Given the description of an element on the screen output the (x, y) to click on. 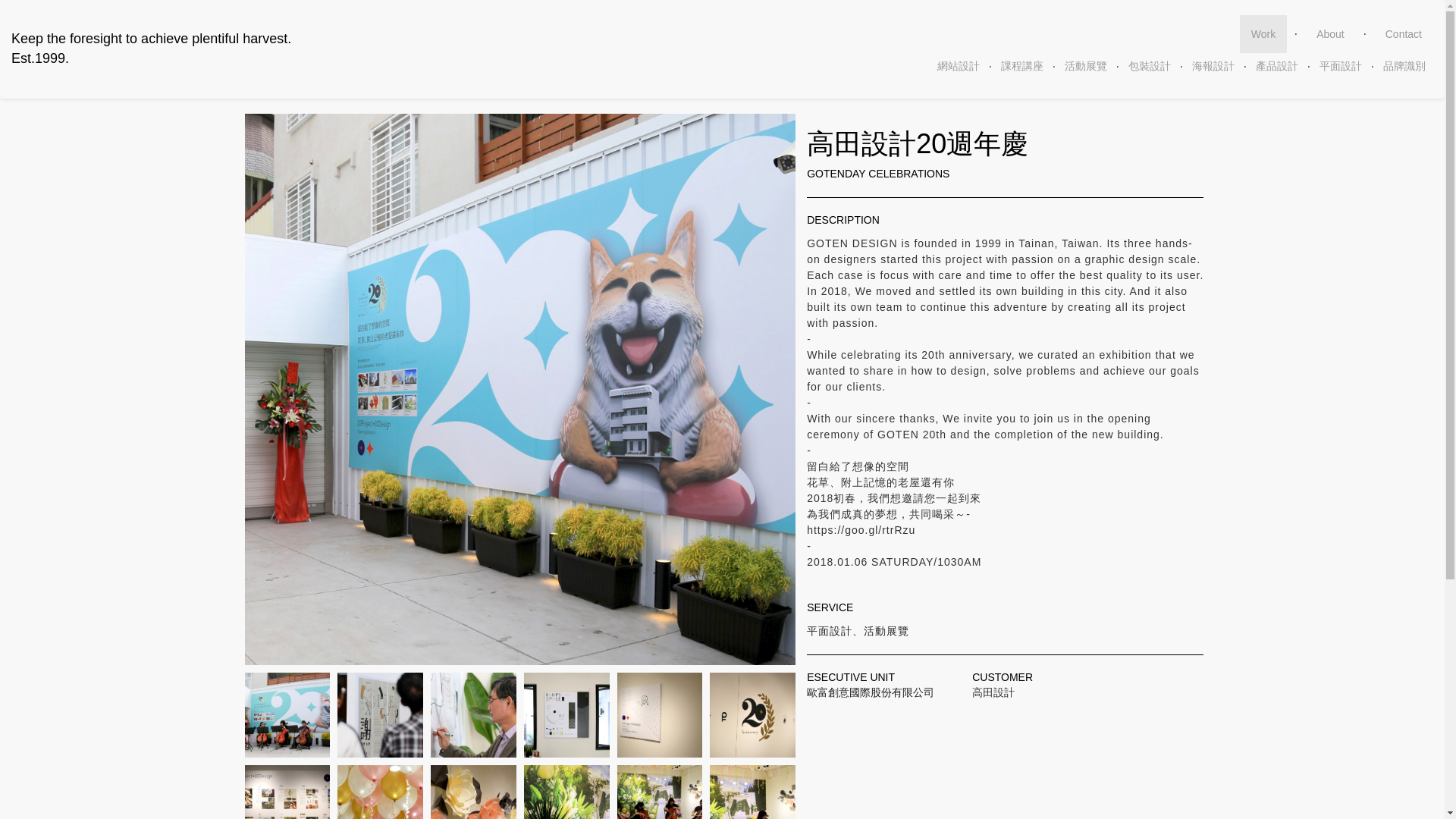
About (1329, 34)
Contact (151, 48)
Work (1403, 34)
